Given the description of an element on the screen output the (x, y) to click on. 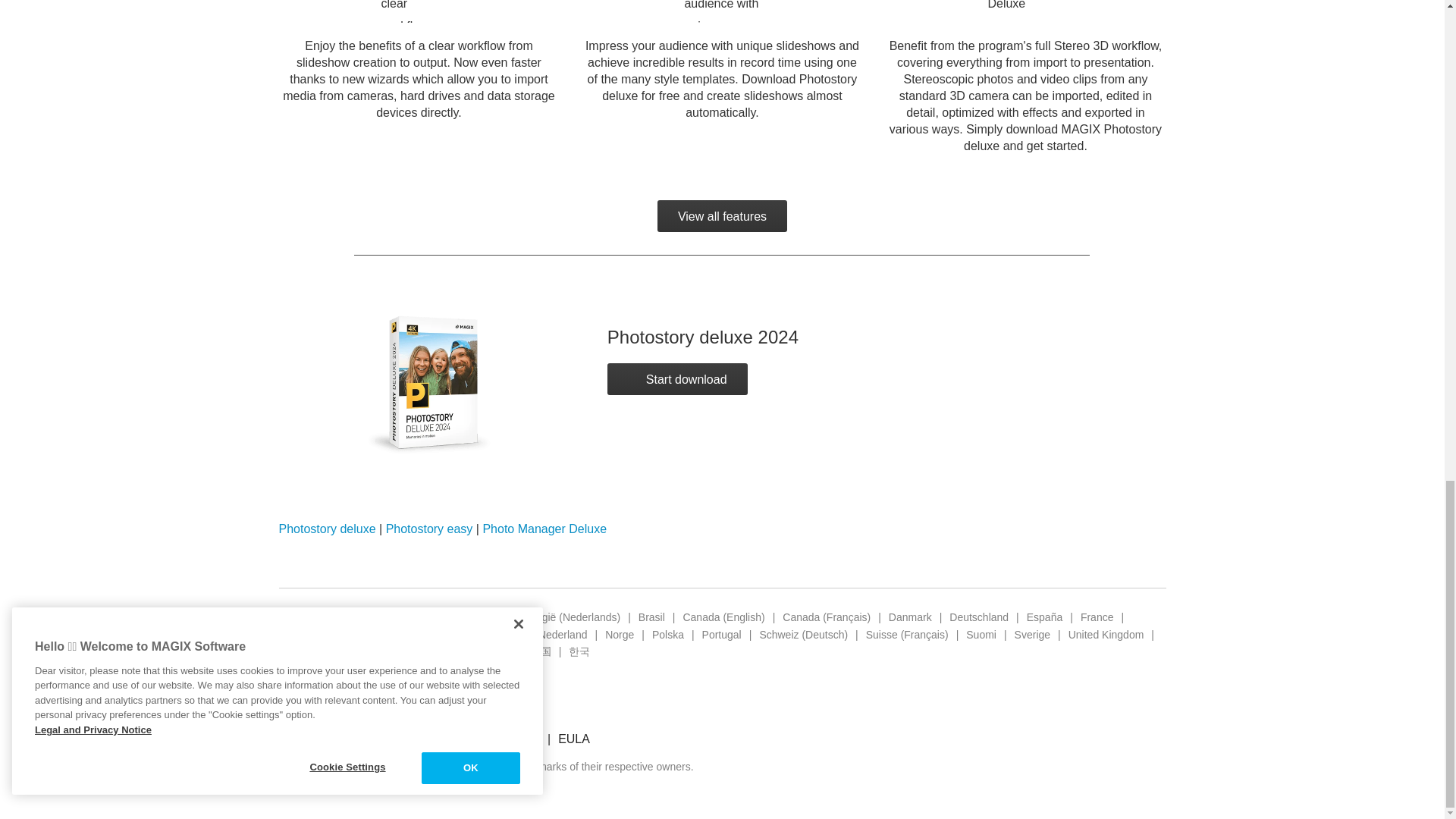
Italia (457, 634)
United States (310, 651)
Photostory easy (429, 528)
Afrika-Borwa (309, 616)
MAGIX Photostory deluxe 2024 (468, 395)
Norge (619, 634)
Photostory easy (429, 528)
Sverige (1031, 634)
Polska (668, 634)
International (349, 634)
